Given the description of an element on the screen output the (x, y) to click on. 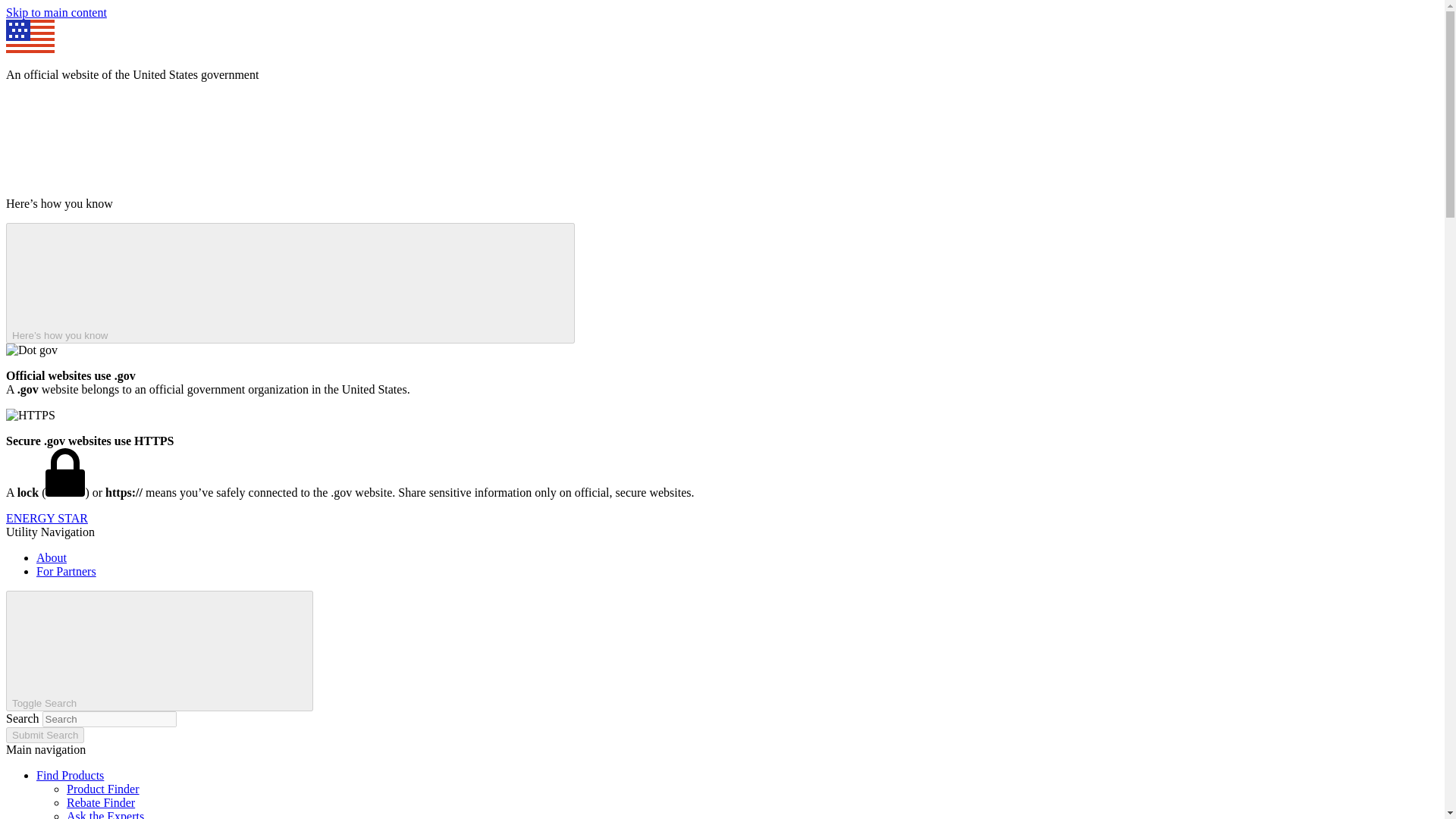
Product Finder (102, 788)
Ask the Experts (105, 814)
LockA locked padlock (64, 471)
About (51, 557)
Toggle Search Magnifying Glass Icon (159, 650)
For Partners (66, 571)
Find Products (69, 775)
Submit Search (44, 734)
Home (46, 517)
Rebate Finder (100, 802)
ENERGY STAR (46, 517)
Skip to main content (55, 11)
Magnifying Glass Icon (193, 649)
